Given the description of an element on the screen output the (x, y) to click on. 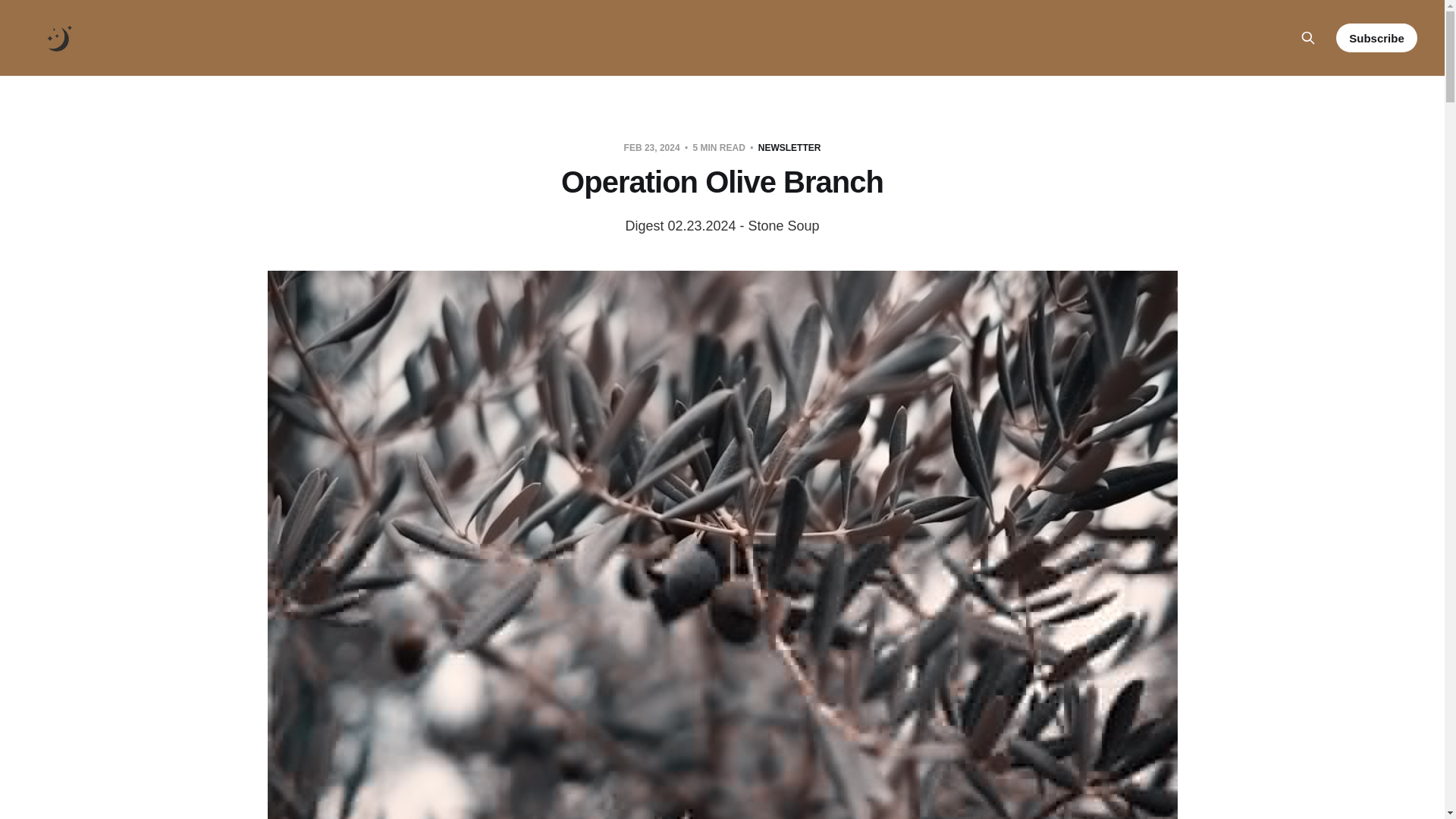
NEWSLETTER (789, 147)
Subscribe (1376, 37)
